Given the description of an element on the screen output the (x, y) to click on. 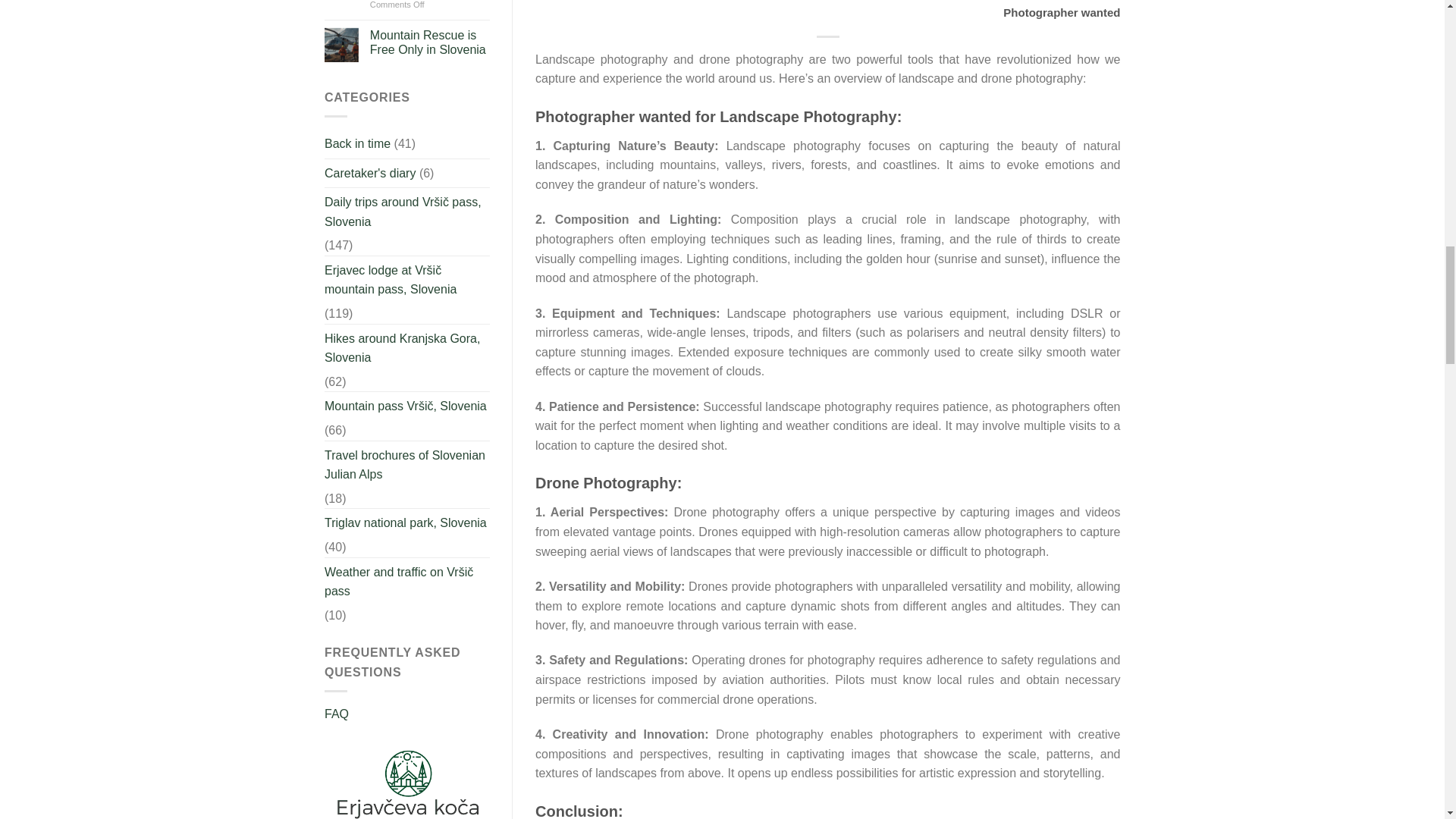
Mountain Rescue is Free Only in Slovenia (429, 41)
